Given the description of an element on the screen output the (x, y) to click on. 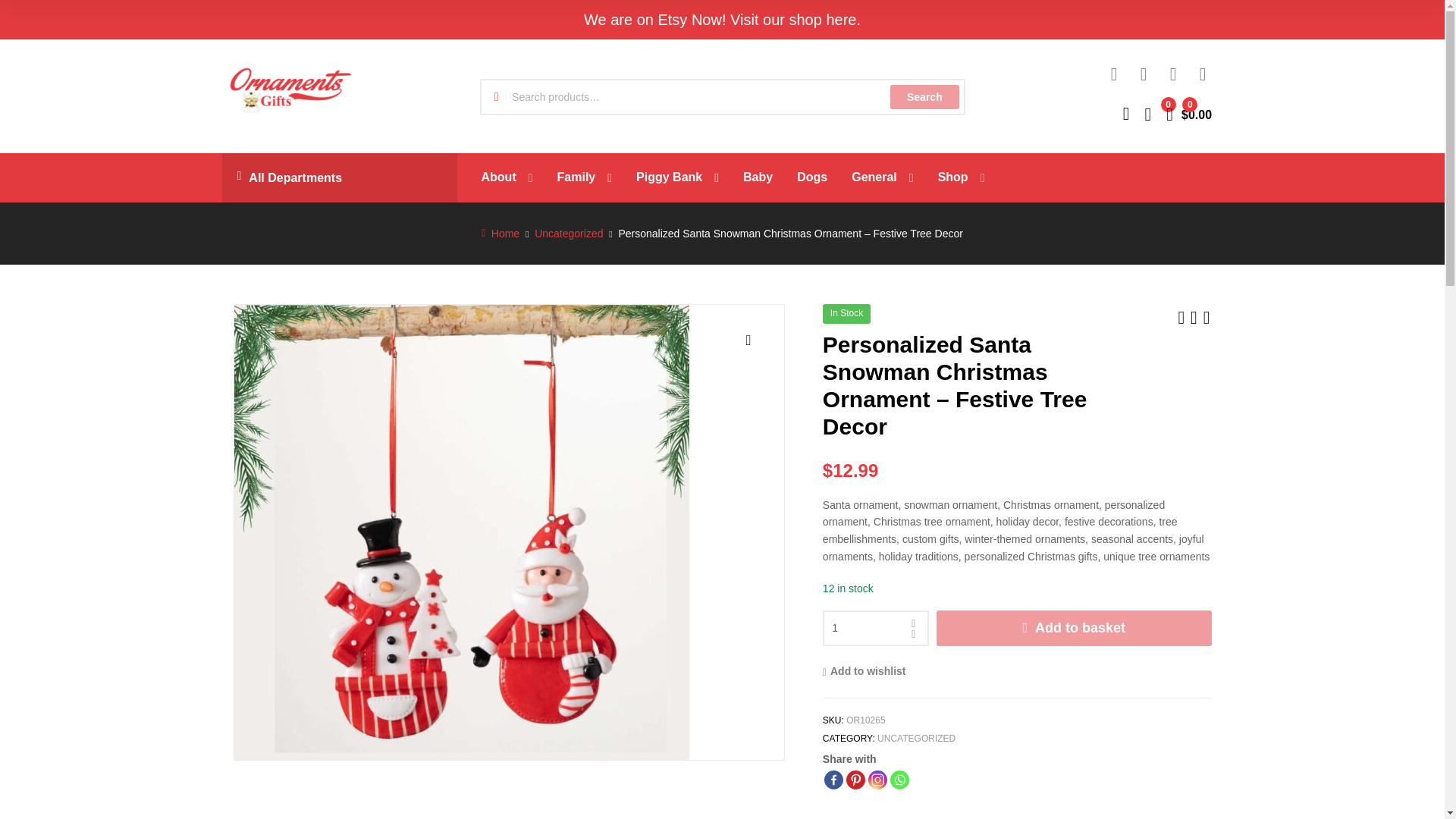
Pinterest (854, 779)
We are on Etsy Now! Visit our shop here. (721, 19)
Whatsapp (898, 779)
View your shopping cart (1188, 112)
Facebook (833, 779)
Instagram (876, 779)
Search (923, 96)
1 (875, 628)
